Given the description of an element on the screen output the (x, y) to click on. 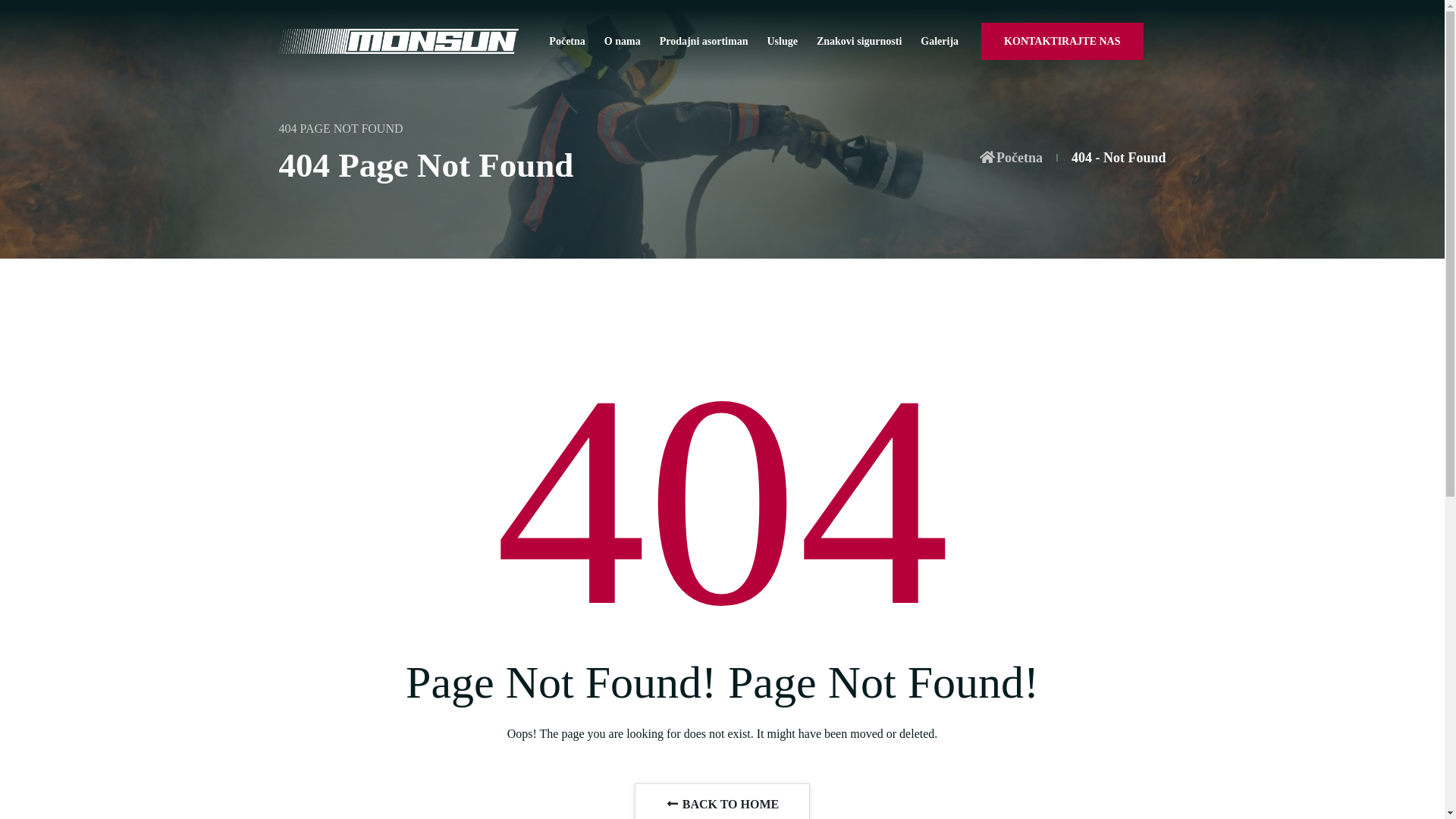
Znakovi sigurnosti Element type: text (859, 40)
Usluge Element type: text (781, 40)
KONTAKTIRAJTE NAS Element type: text (1061, 40)
Galerija Element type: text (939, 40)
Prodajni asortiman Element type: text (704, 40)
O nama Element type: text (622, 40)
